Given the description of an element on the screen output the (x, y) to click on. 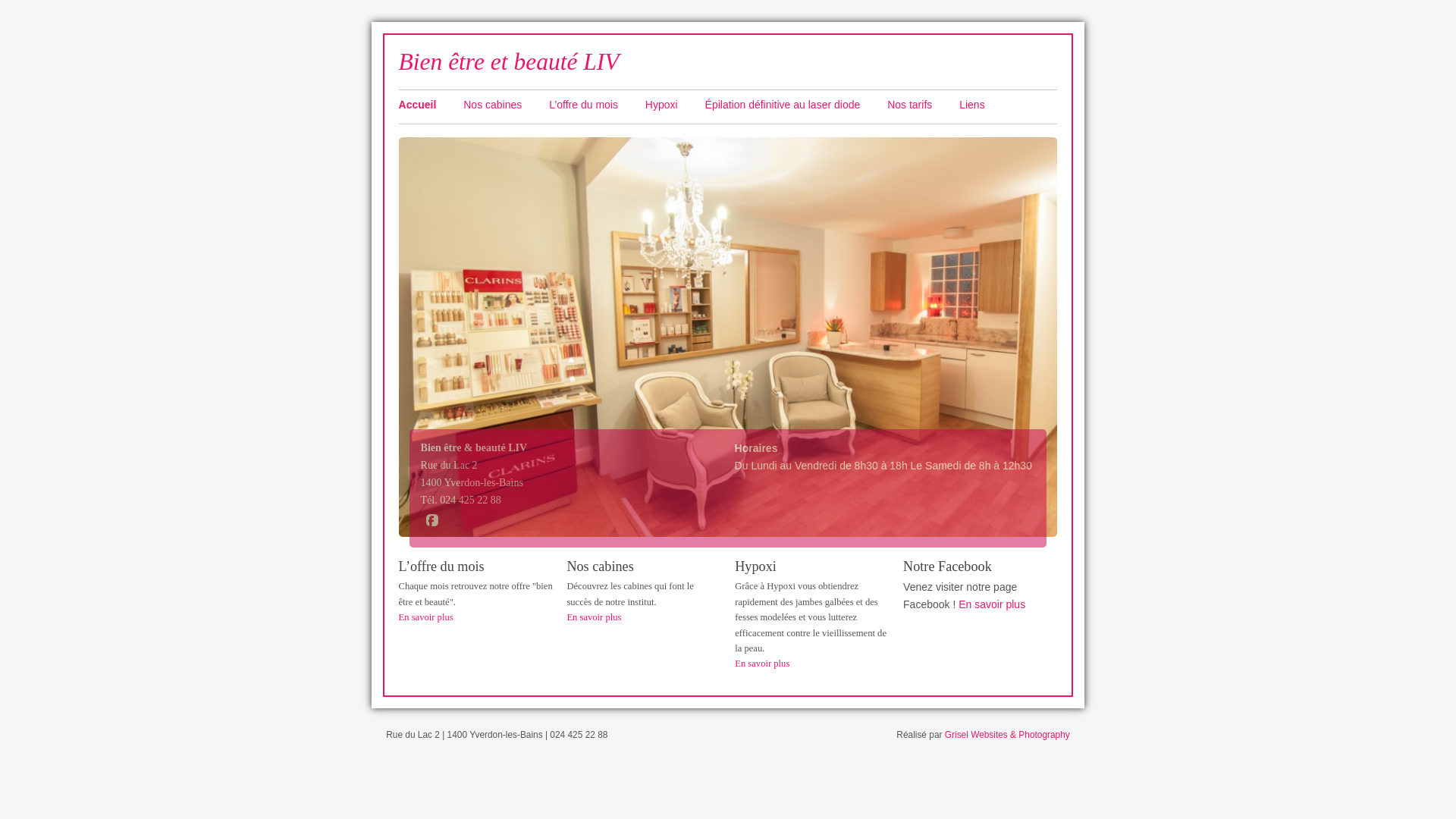
En savoir plus Element type: text (761, 663)
En savoir plus Element type: text (593, 616)
Grisel Websites & Photography Element type: text (1007, 734)
Accueil Element type: text (429, 105)
Liens Element type: text (983, 105)
Nos tarifs Element type: text (921, 105)
Nos cabines Element type: text (504, 105)
En savoir plus Element type: text (991, 604)
En savoir plus Element type: text (425, 616)
Hypoxi Element type: text (673, 105)
